Given the description of an element on the screen output the (x, y) to click on. 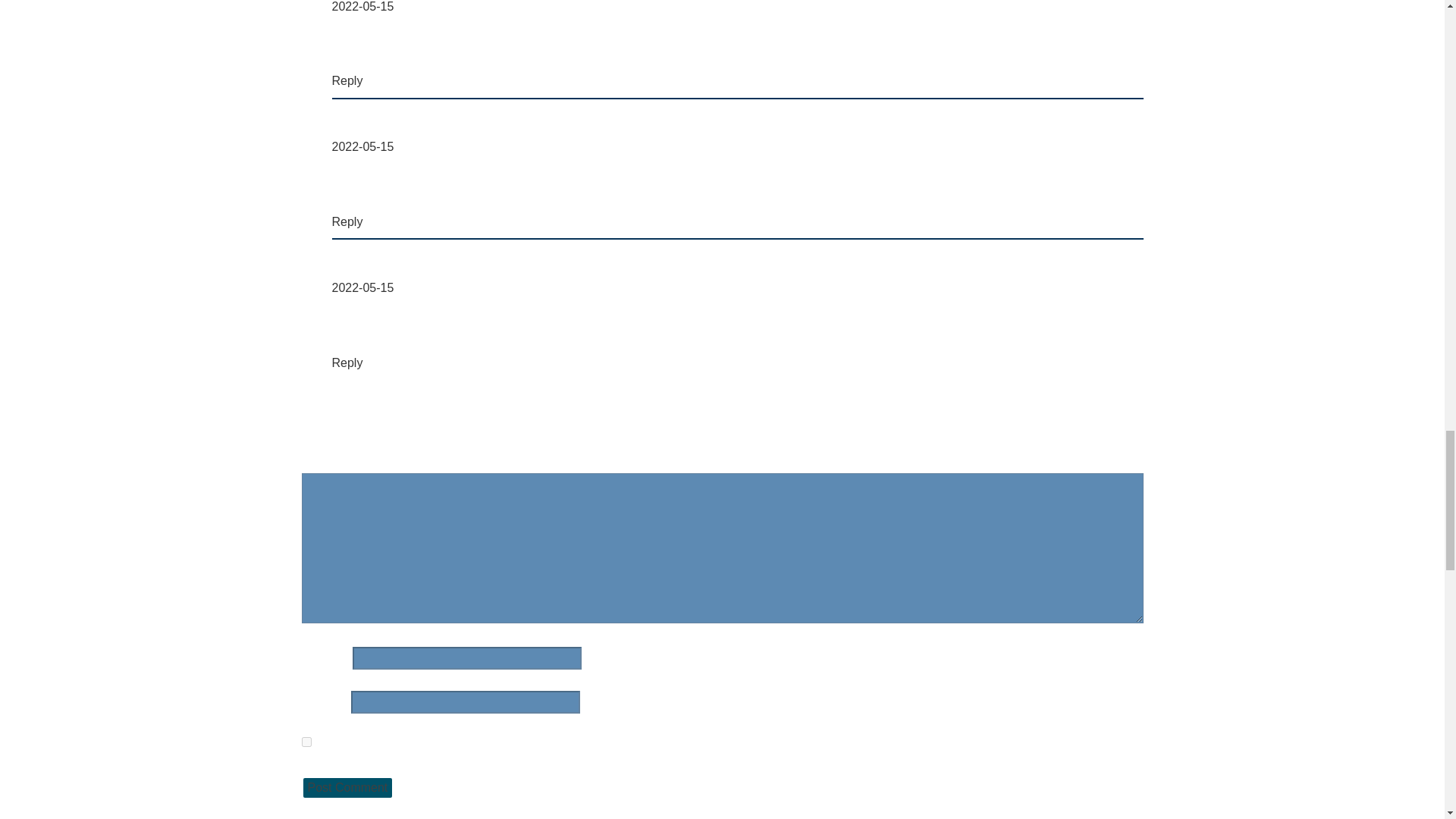
2022-05-15 (362, 287)
Post Comment (347, 787)
Reply (346, 221)
2022-05-15 (362, 6)
Reply (346, 80)
2022-05-15 (362, 146)
Reply (346, 362)
yes (306, 741)
Post Comment (347, 787)
